Given the description of an element on the screen output the (x, y) to click on. 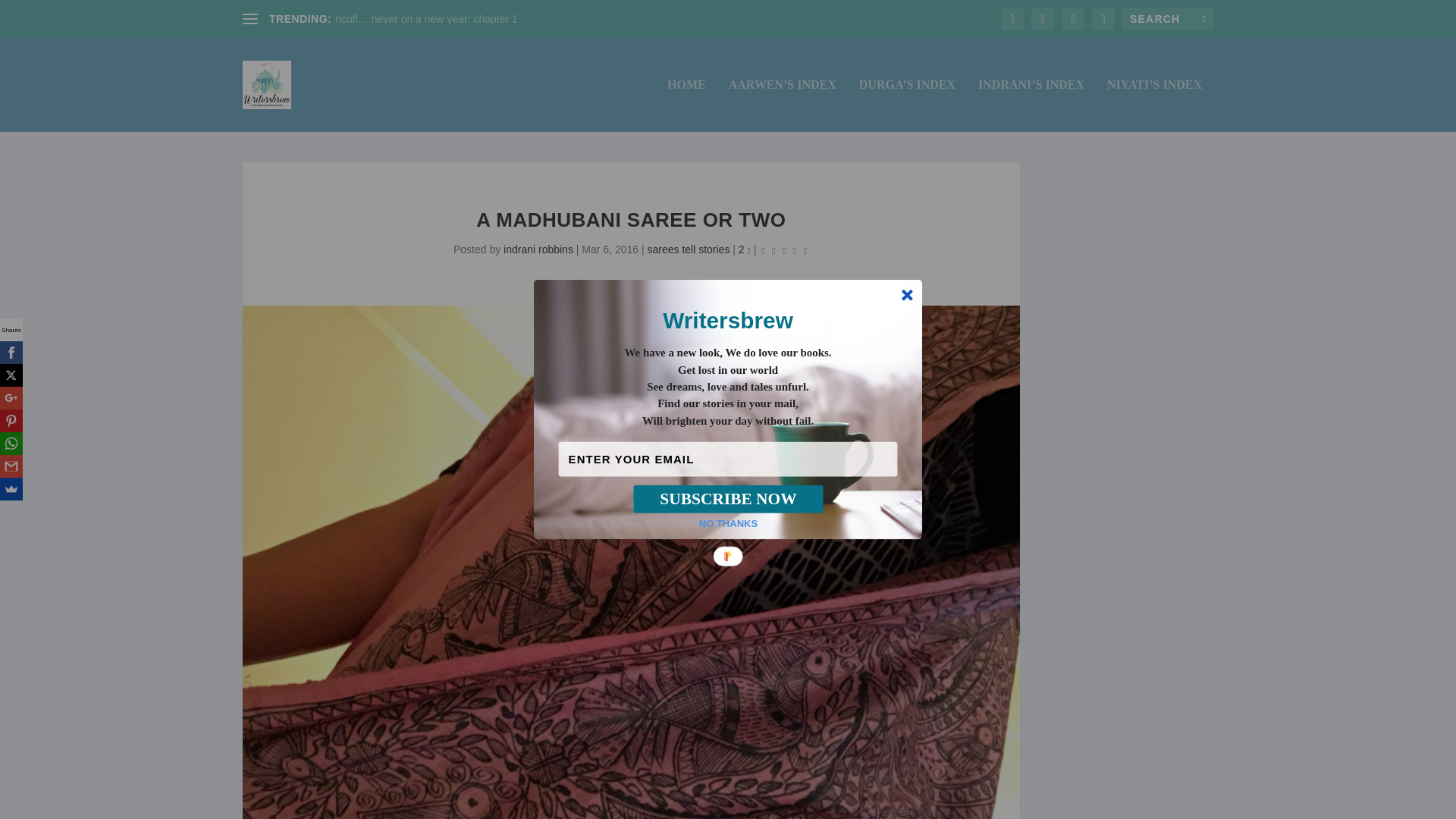
Posts by indrani robbins (538, 249)
sarees tell stories (687, 249)
Search for: (1167, 18)
indrani robbins (538, 249)
2 (744, 249)
Rating: 0.00 (783, 250)
